Given the description of an element on the screen output the (x, y) to click on. 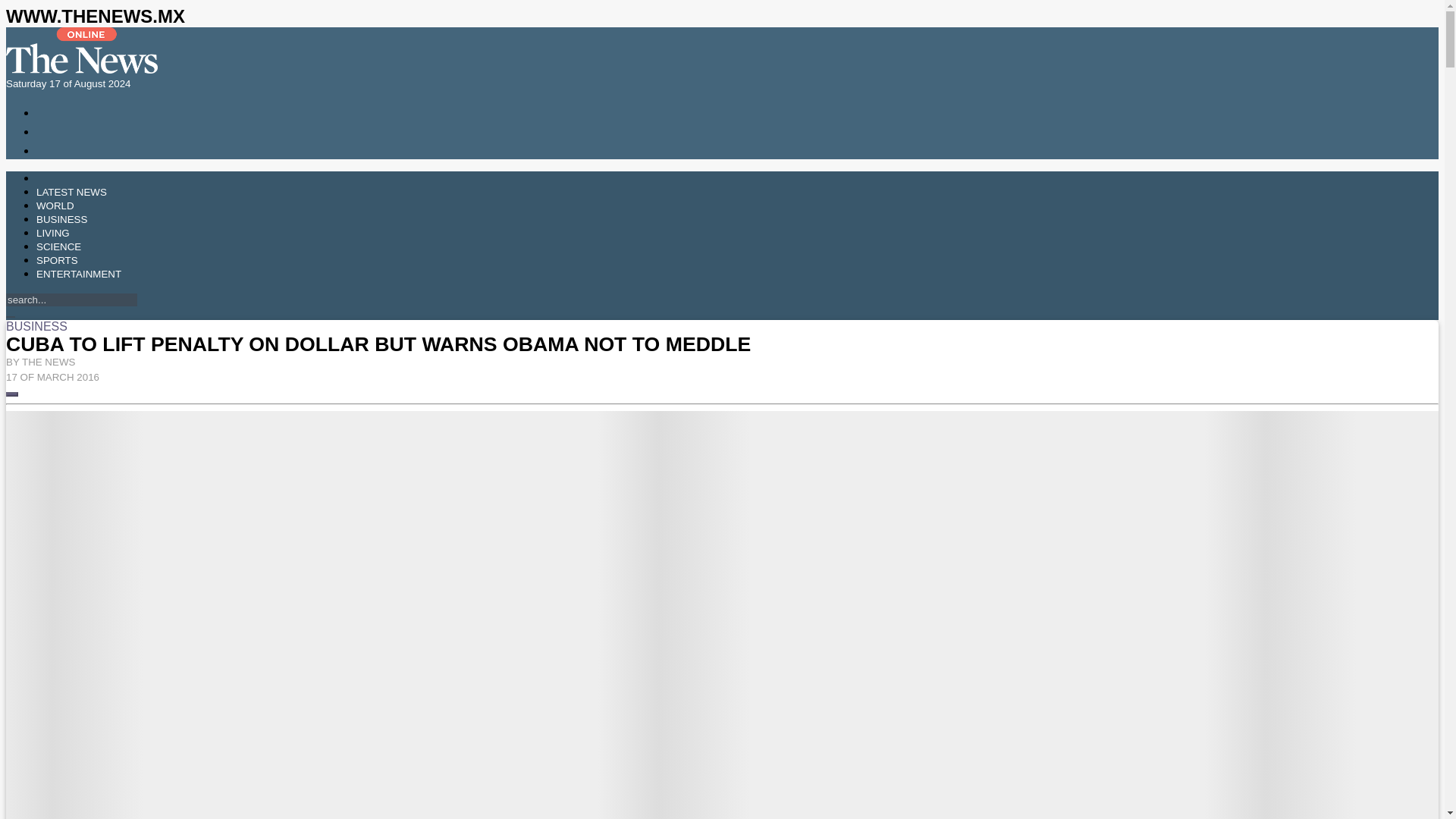
Latest News (71, 192)
LIVING (52, 233)
Sports (57, 260)
BUSINESS (61, 219)
Living (52, 233)
SCIENCE (58, 246)
World (55, 205)
SPORTS (57, 260)
Science (58, 246)
The News (81, 69)
